Given the description of an element on the screen output the (x, y) to click on. 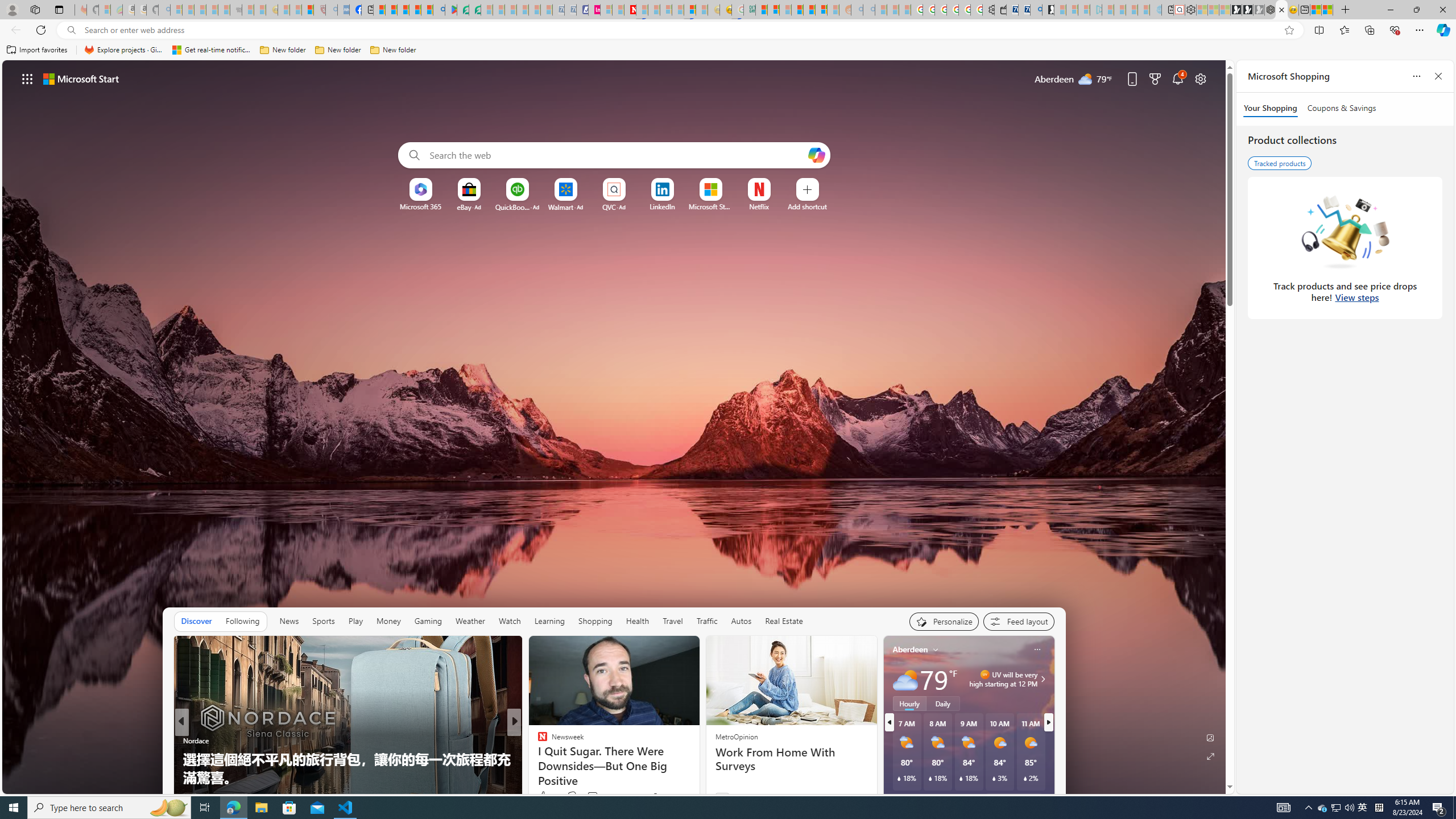
Health (637, 621)
331 Like (545, 796)
15 Terrifying Creatures Still Roaming Our Planet (697, 777)
SlashGear (537, 758)
View comments 18 Comment (592, 797)
